Given the description of an element on the screen output the (x, y) to click on. 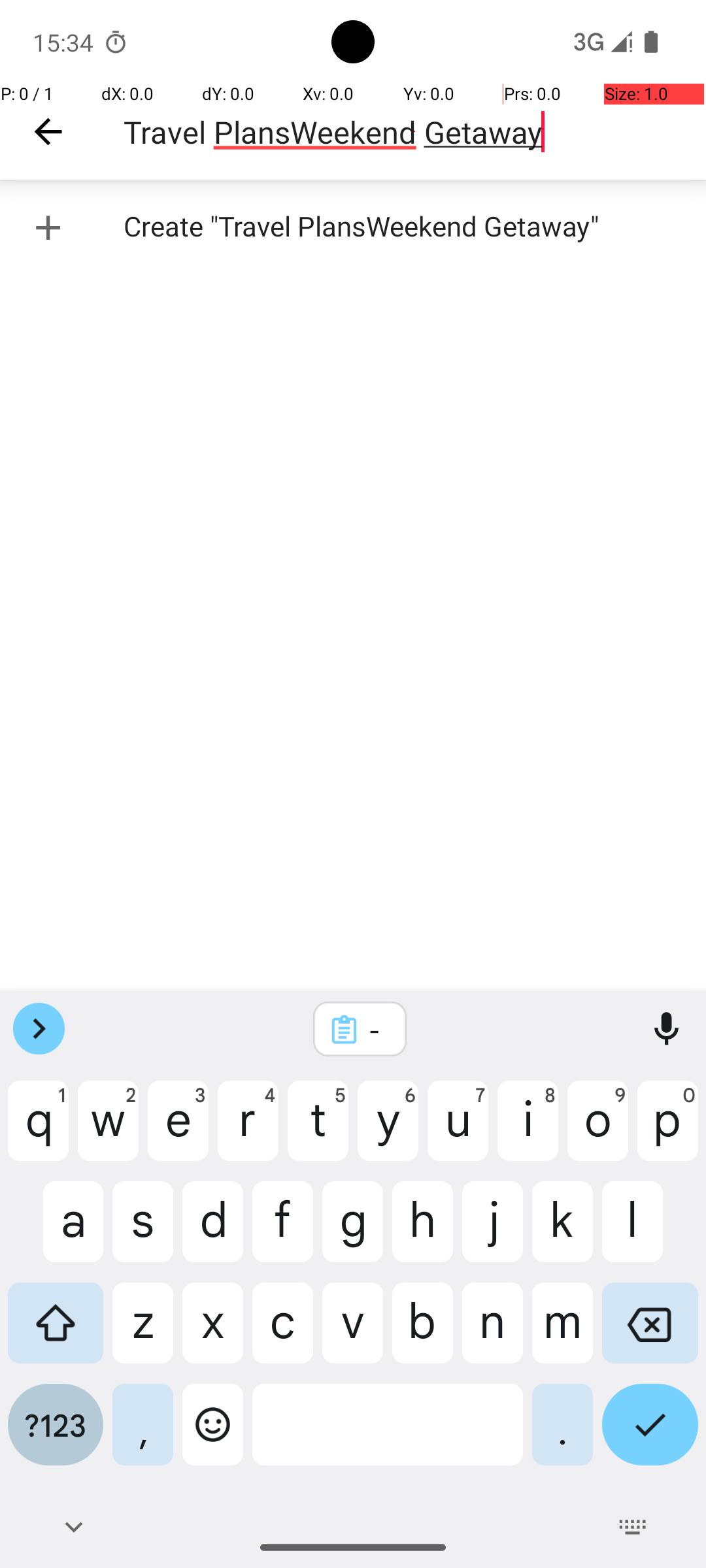
Travel PlansWeekend Getaway Element type: android.widget.EditText (414, 131)
Create "Travel PlansWeekend Getaway" Element type: android.widget.TextView (353, 227)
